Given the description of an element on the screen output the (x, y) to click on. 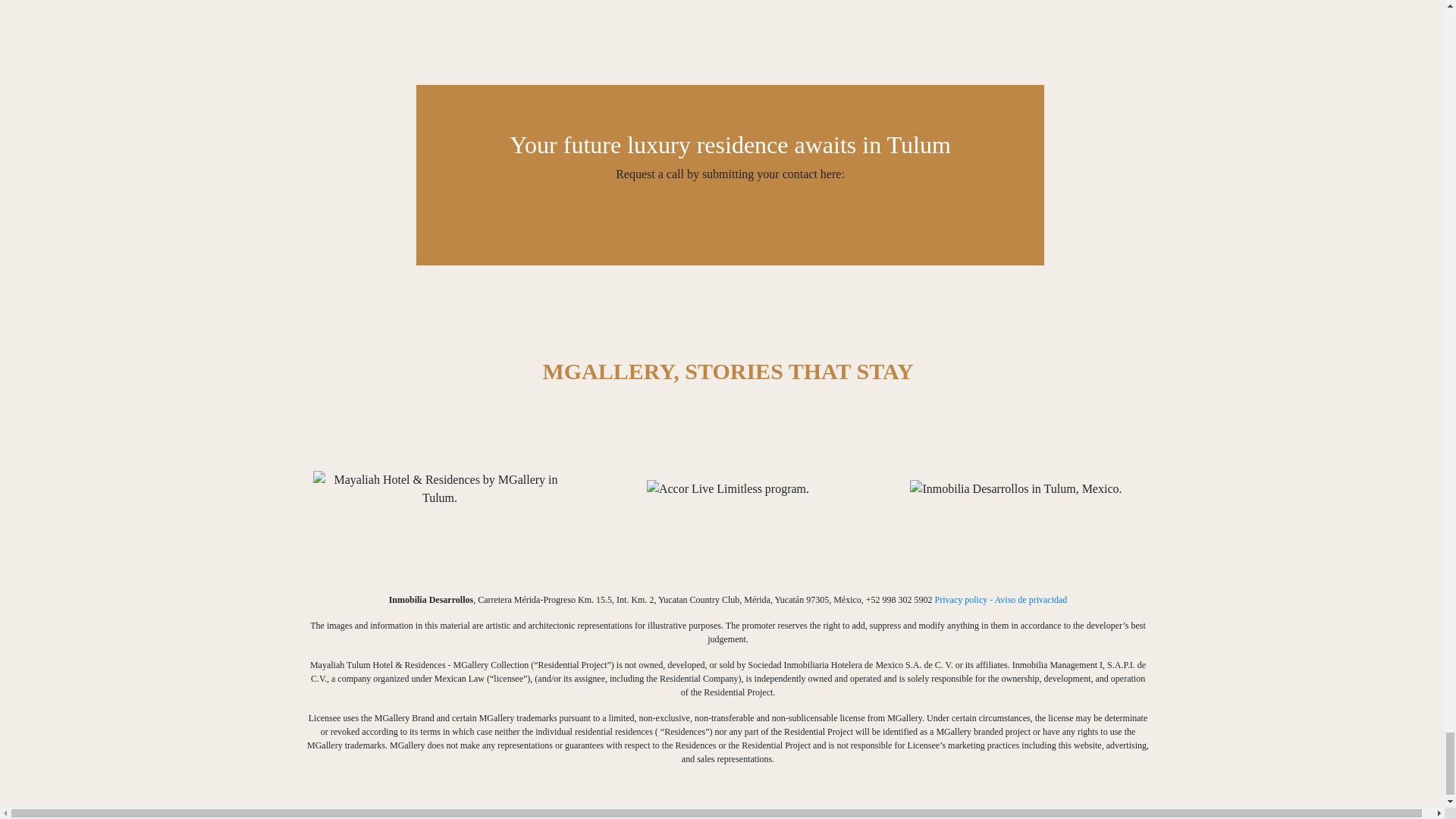
MGallery Residences in Tulum. (439, 488)
Inmobilia Desarrollos. (1015, 488)
Accor Live Limitless. (727, 488)
Privacy policy - Aviso de privacidad (1000, 599)
